Given the description of an element on the screen output the (x, y) to click on. 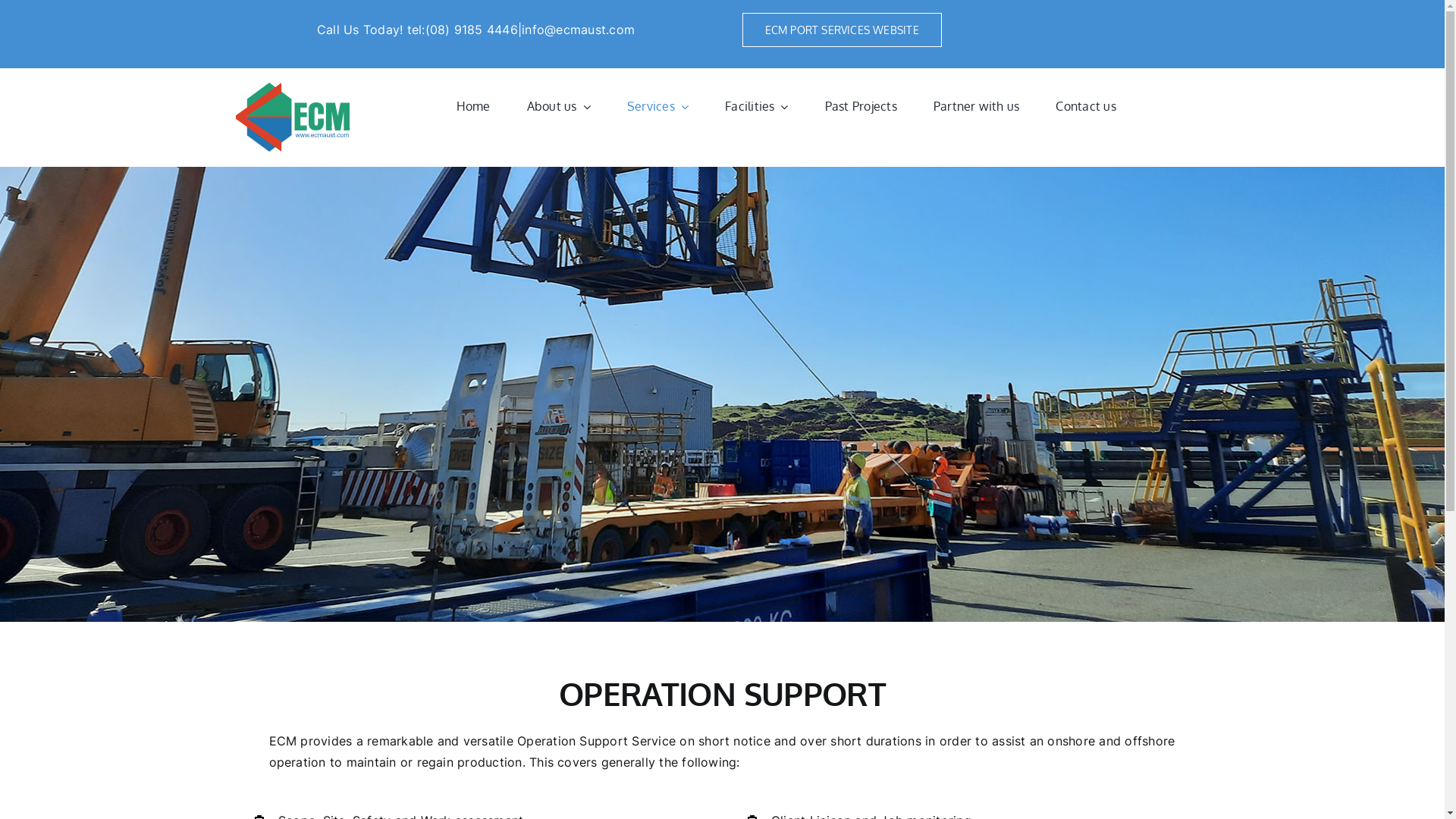
About us Element type: text (577, 106)
ECM PORT SERVICES WEBSITE Element type: text (841, 29)
tel:(08) 9185 4446 Element type: text (462, 29)
Services Element type: text (675, 106)
Past Projects Element type: text (879, 106)
Facilities Element type: text (774, 106)
Contact us Element type: text (1103, 106)
ECMAust-Logo-96 Element type: hover (292, 117)
info@ecmaust.com Element type: text (577, 29)
Home Element type: text (491, 106)
Partner with us Element type: text (994, 106)
